Given the description of an element on the screen output the (x, y) to click on. 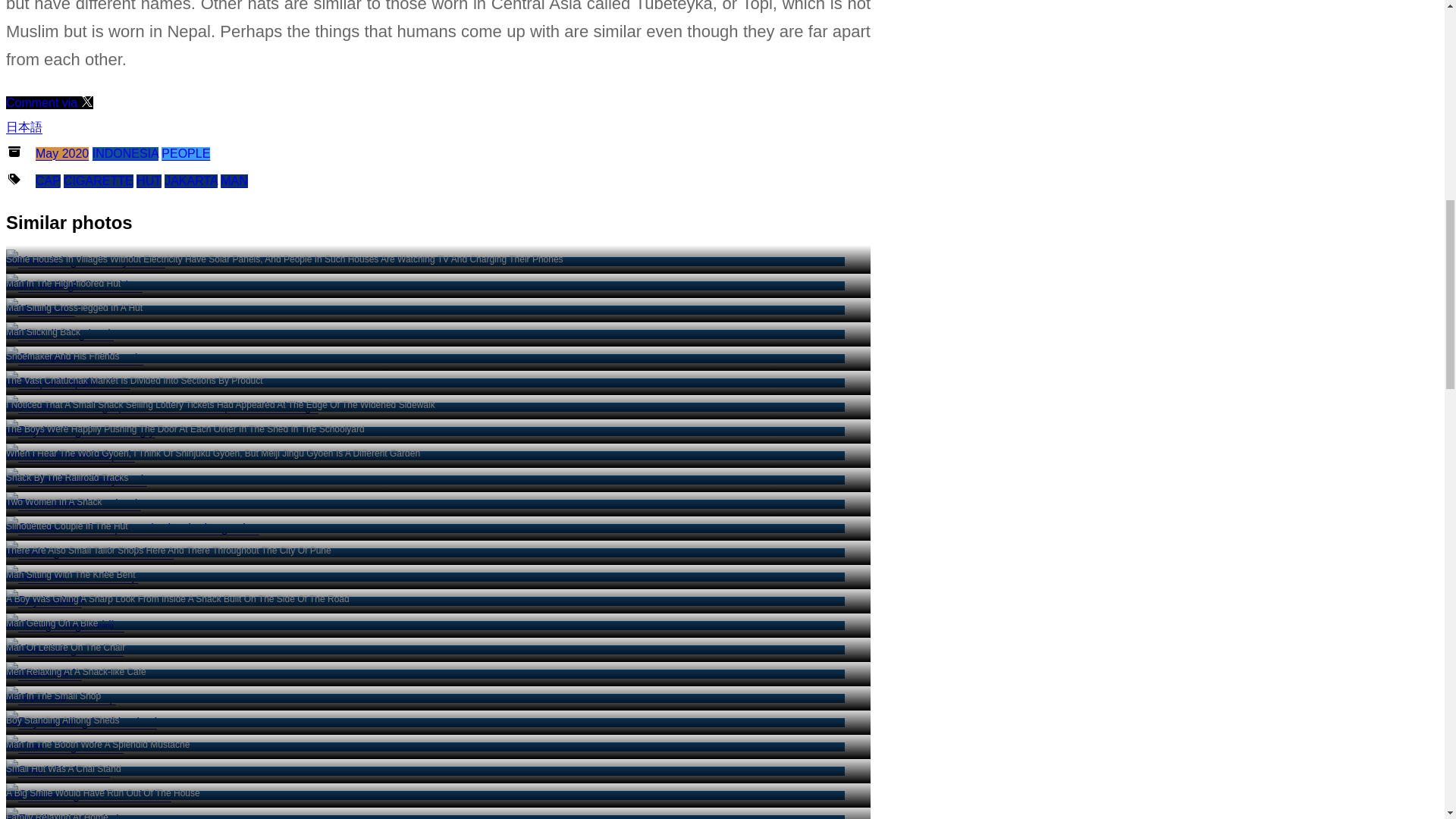
Photos Tagged with CIGARETTE (98, 180)
Photos Tagged with MAN (234, 180)
CIGARETTE (98, 180)
CAP (47, 180)
INDONESIA (125, 153)
CATEGORY ARCHIVE of INDONESIA (125, 153)
MAN (73, 358)
